Given the description of an element on the screen output the (x, y) to click on. 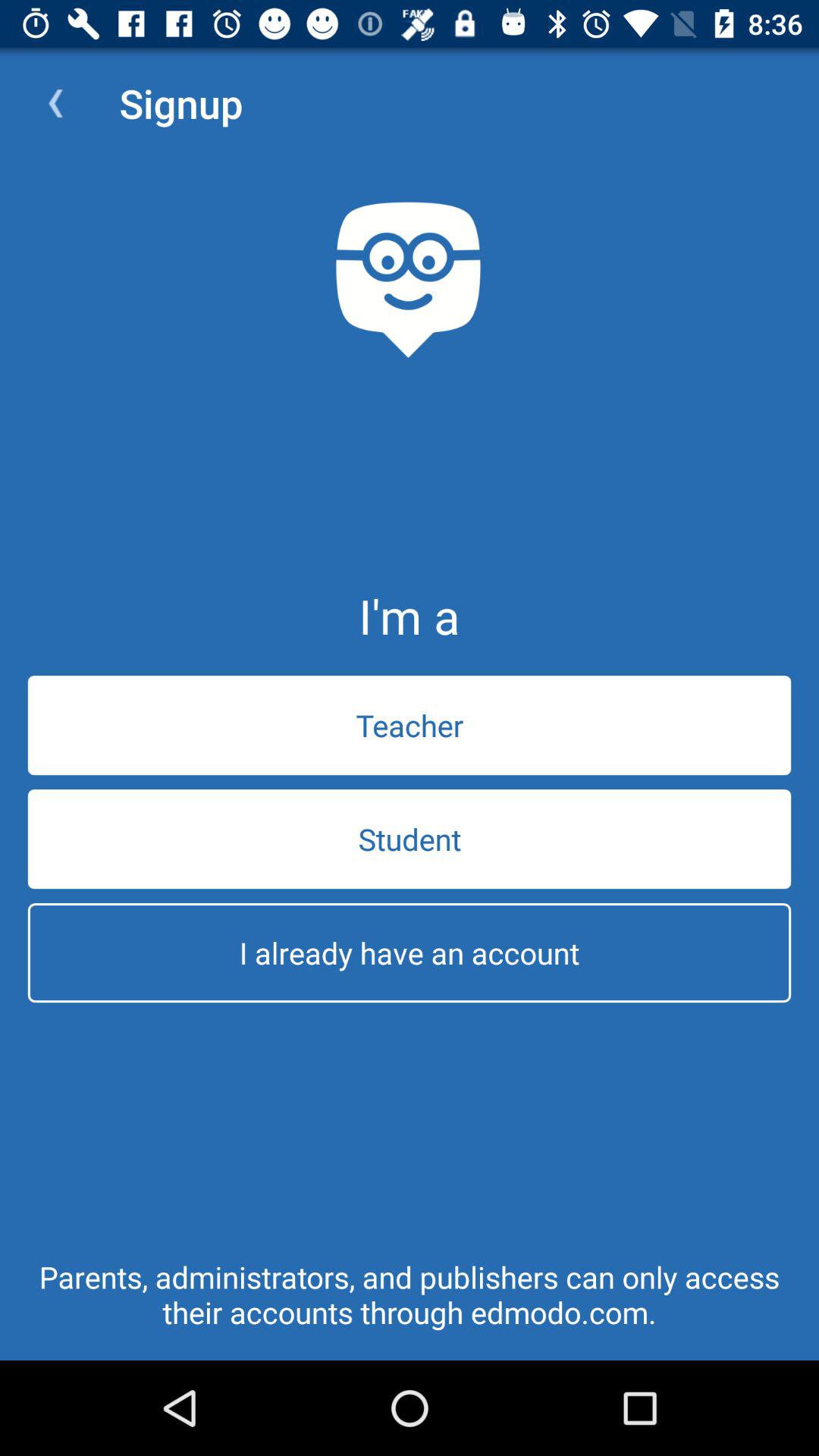
choose teacher item (409, 725)
